Given the description of an element on the screen output the (x, y) to click on. 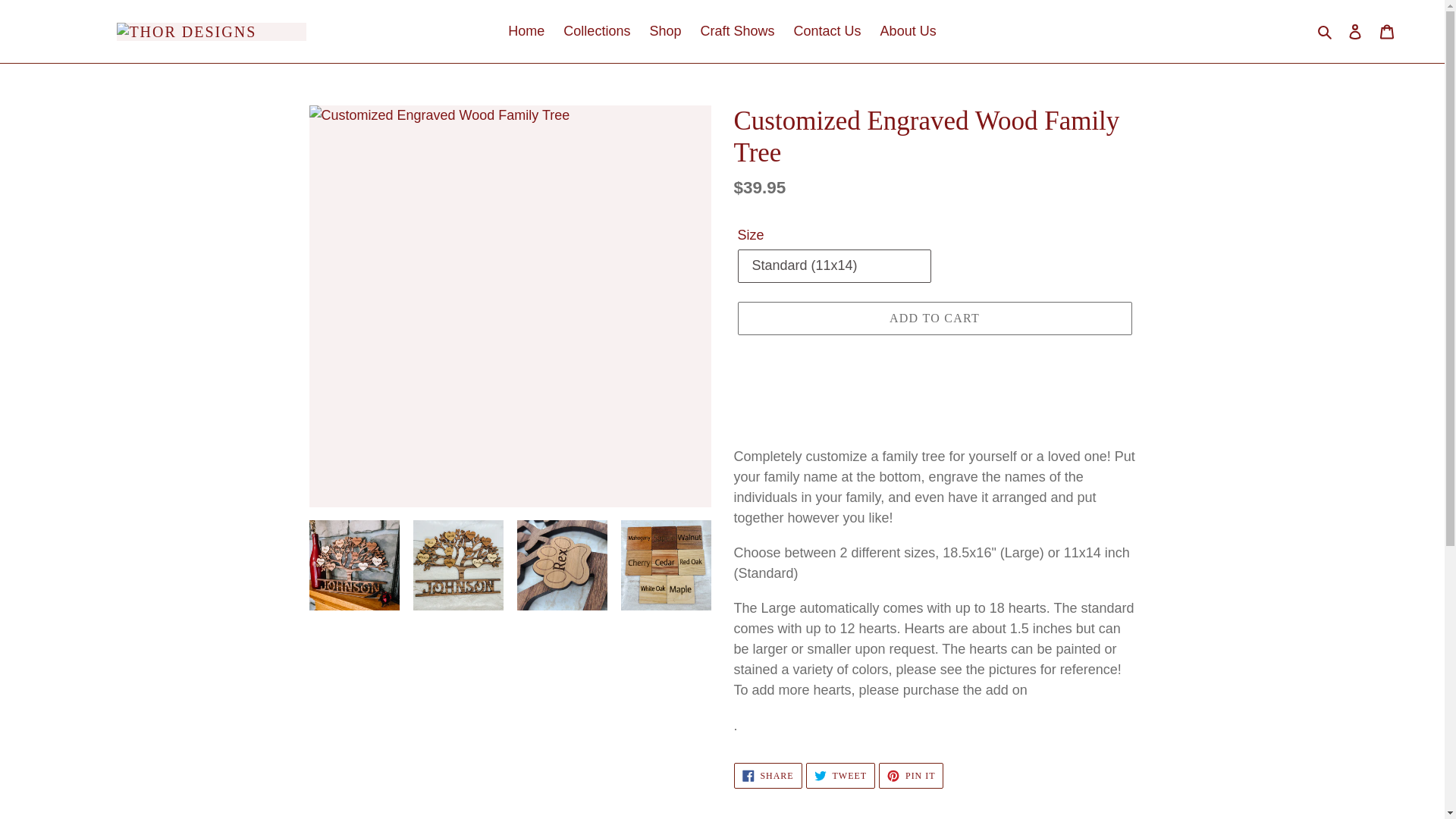
Log in (1355, 31)
ADD TO CART (933, 318)
Contact Us (827, 31)
Cart (911, 775)
Craft Shows (1387, 31)
About Us (840, 775)
Search (737, 31)
Shop (907, 31)
Collections (1326, 31)
Home (665, 31)
